Given the description of an element on the screen output the (x, y) to click on. 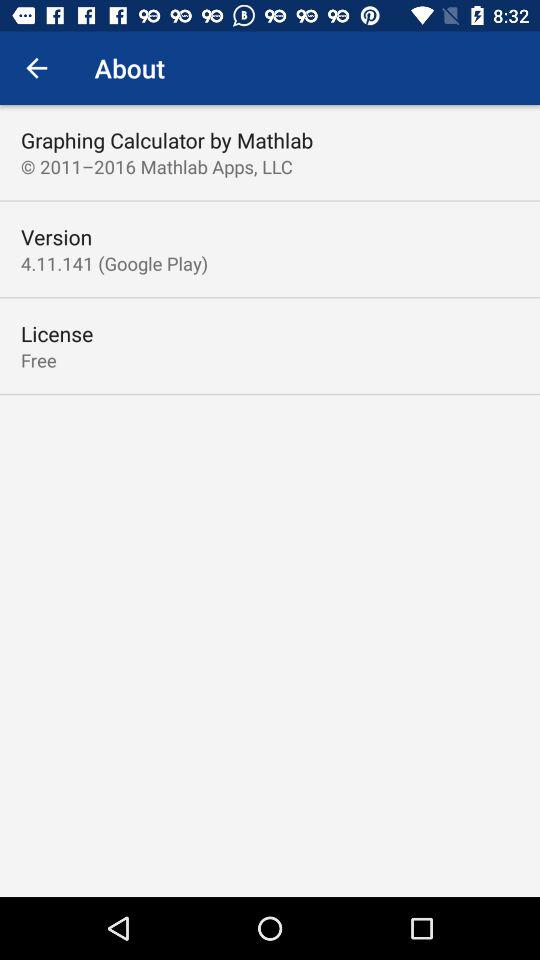
jump until the free (38, 360)
